Given the description of an element on the screen output the (x, y) to click on. 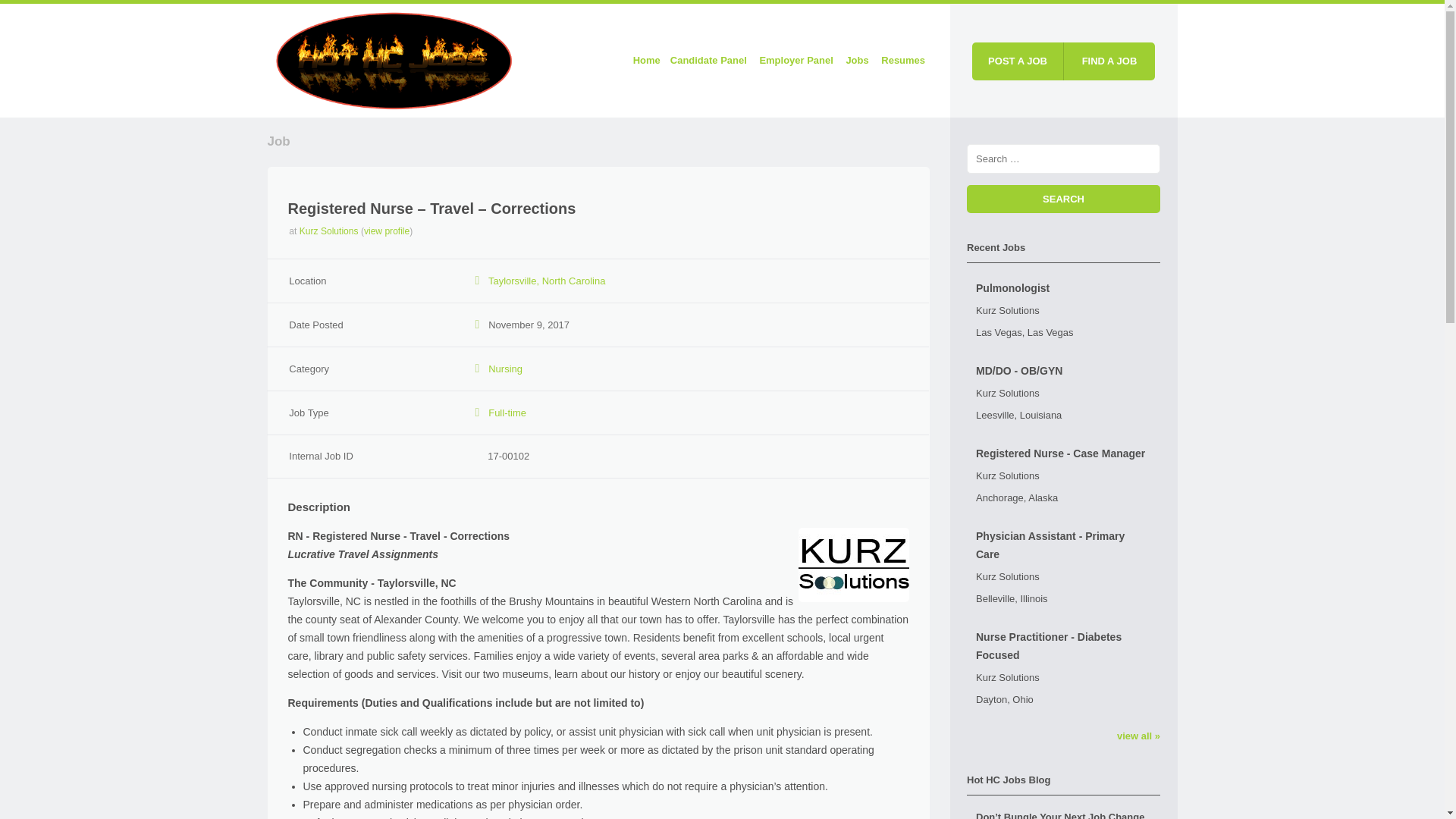
Kurz Solutions (328, 231)
Employer Panel (796, 60)
Resumes (903, 60)
Candidate Panel (708, 60)
view profile (386, 231)
Skip to content (603, 50)
Taylorsville, North Carolina (546, 280)
Hot HC Jobs (392, 58)
